Given the description of an element on the screen output the (x, y) to click on. 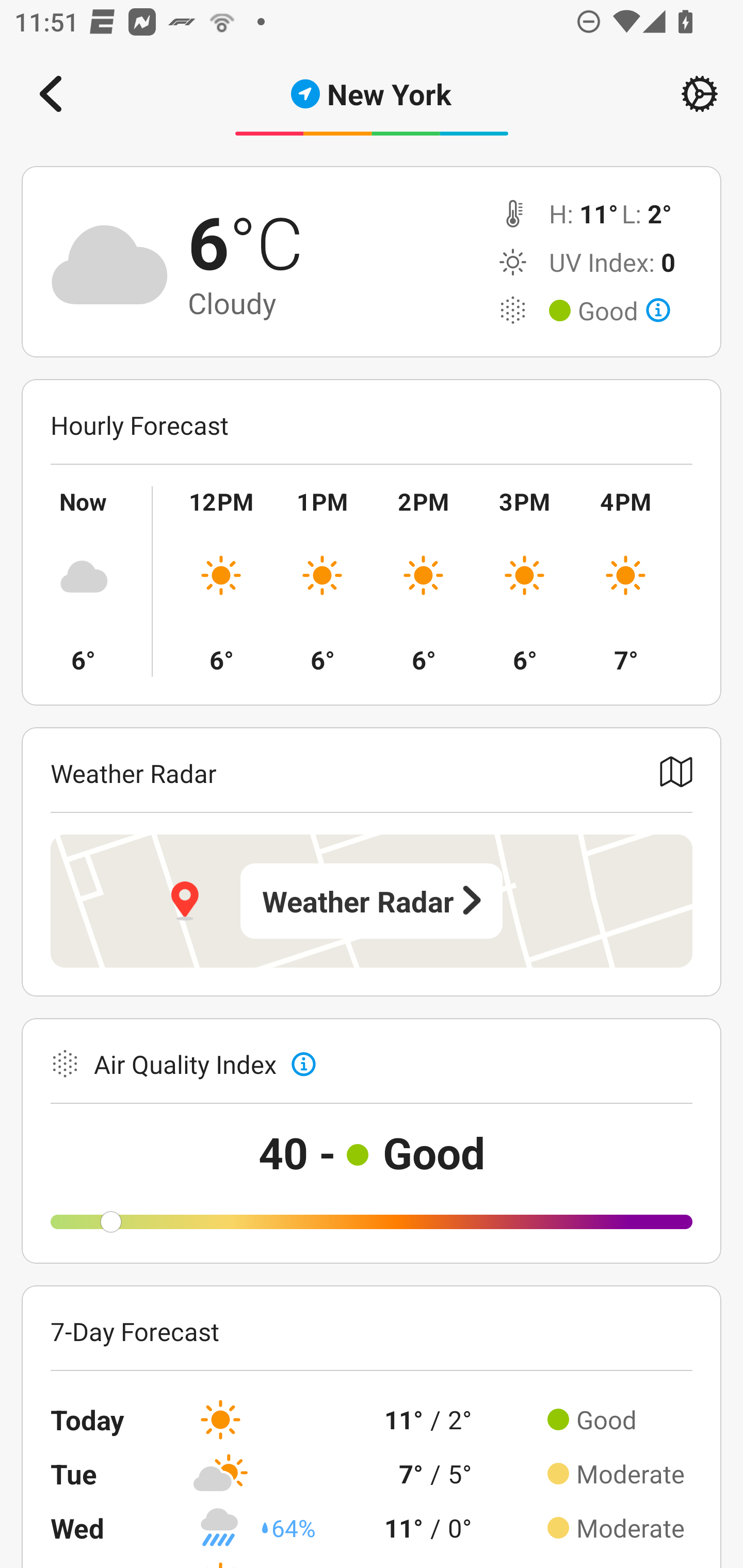
Navigate up (50, 93)
Setting (699, 93)
Good (624, 310)
Weather Radar (371, 900)
